Given the description of an element on the screen output the (x, y) to click on. 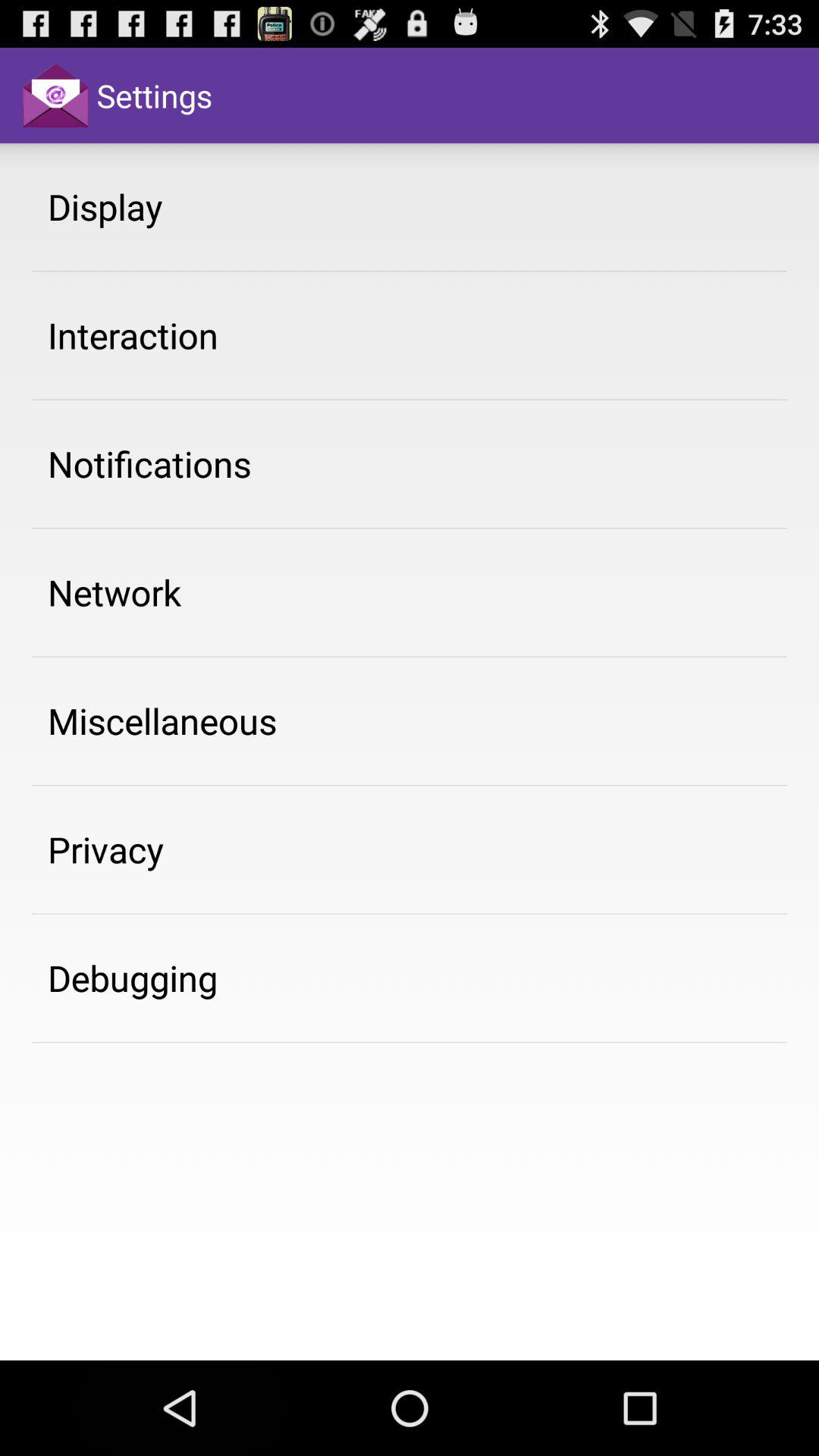
jump to the debugging icon (132, 977)
